Given the description of an element on the screen output the (x, y) to click on. 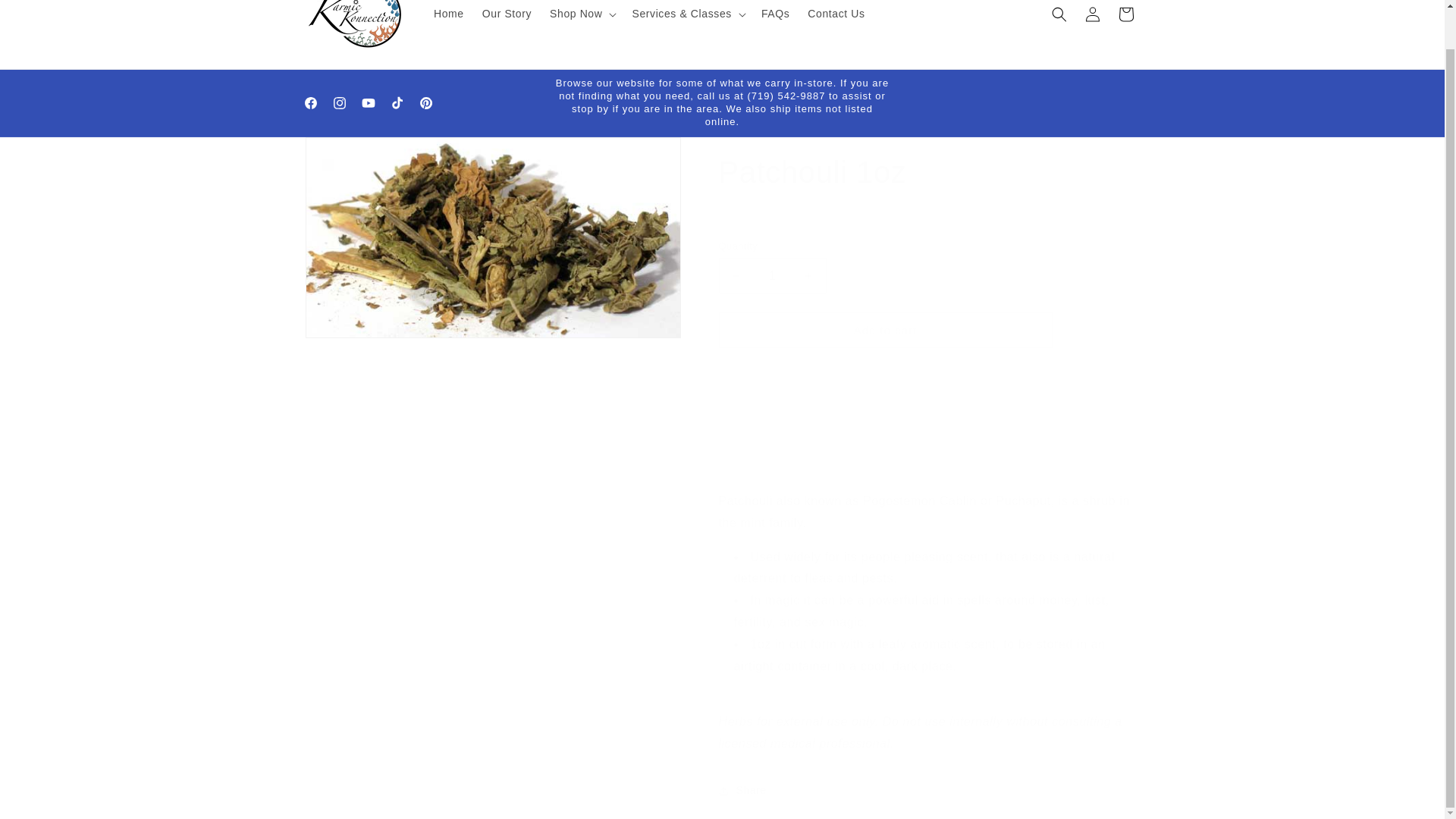
Open media 1 in modal (491, 238)
1 (773, 275)
